Given the description of an element on the screen output the (x, y) to click on. 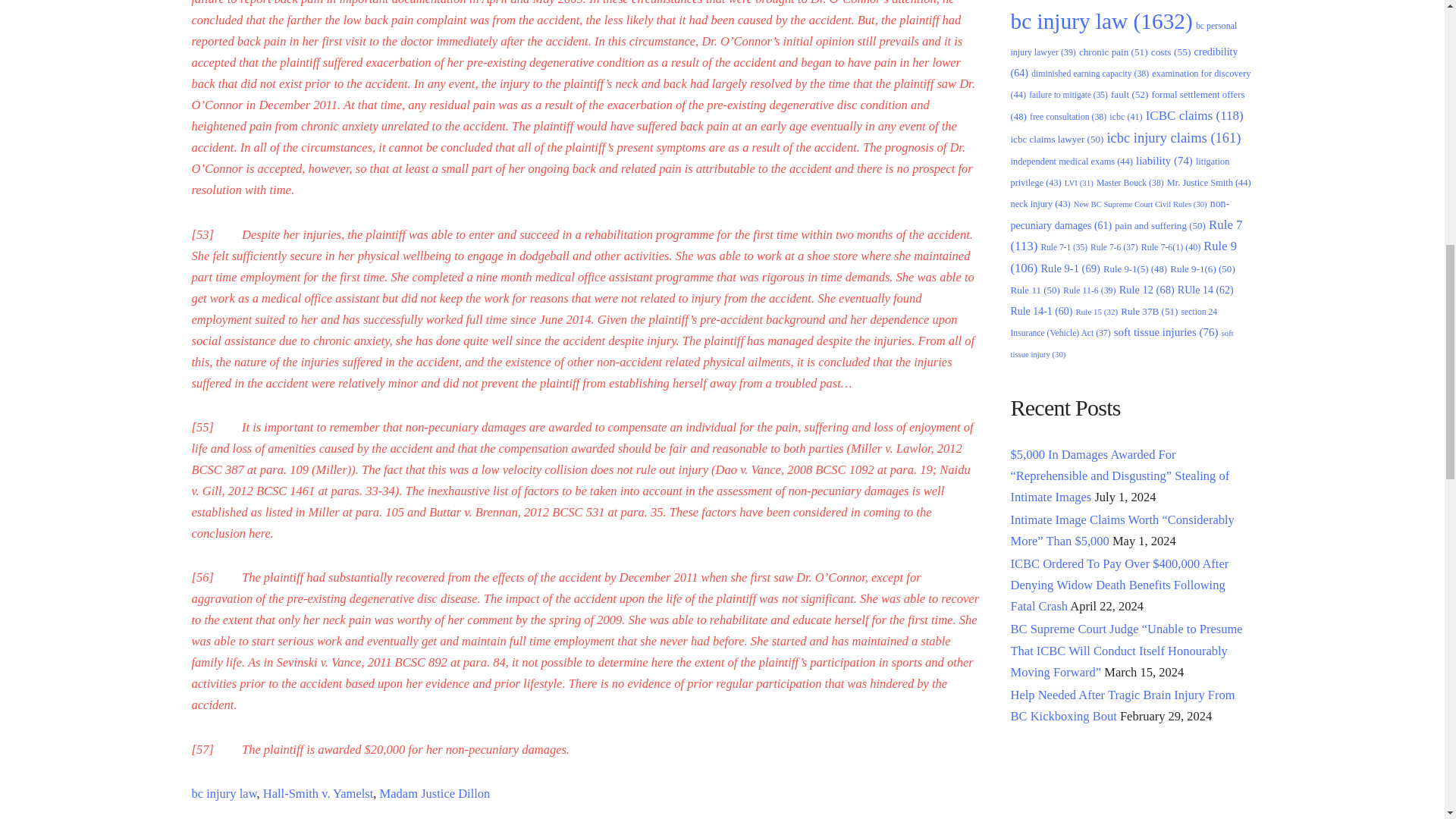
Hall-Smith v. Yamelst (318, 793)
Madam Justice Dillon (435, 793)
bc injury law (223, 793)
